Given the description of an element on the screen output the (x, y) to click on. 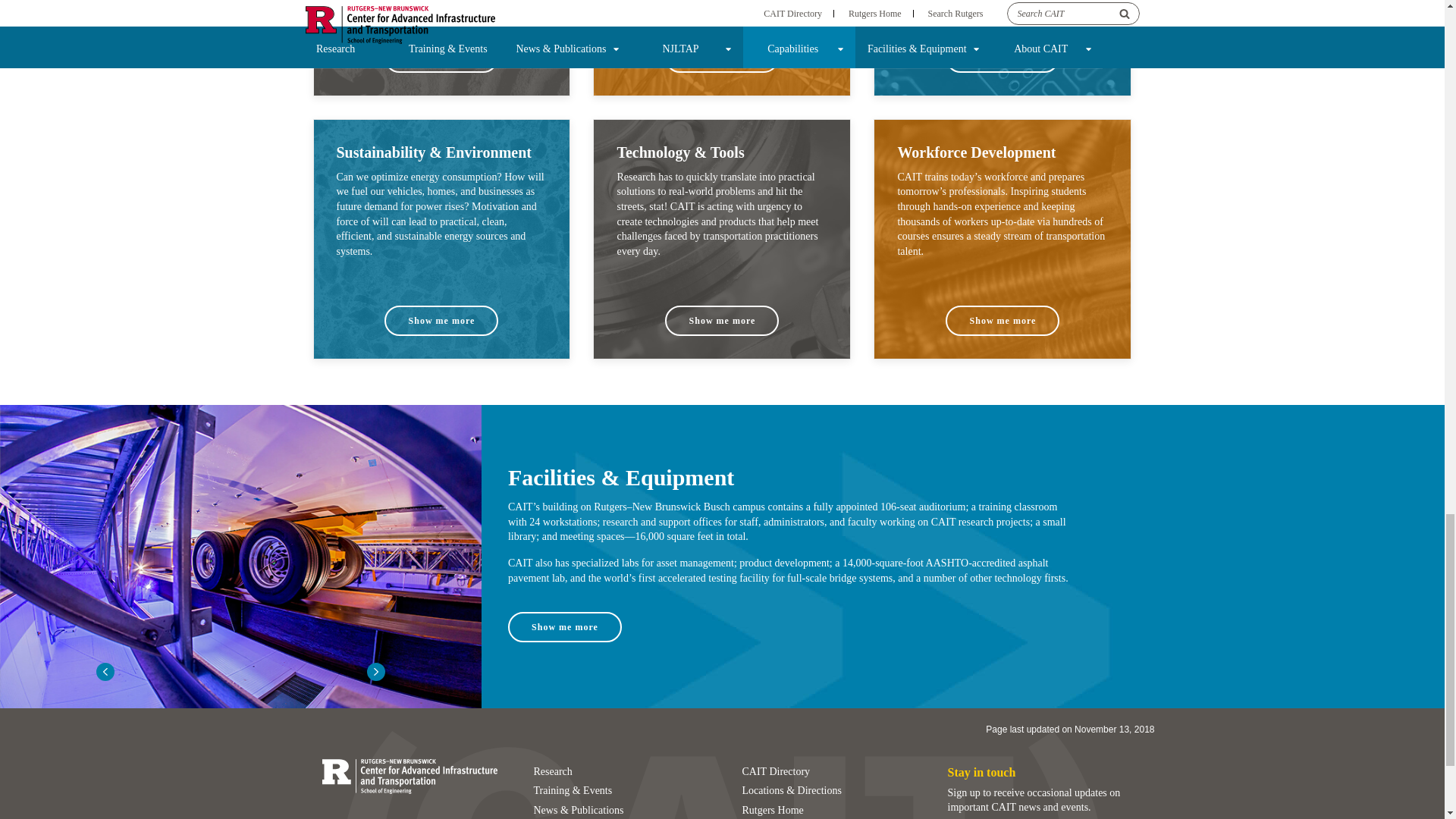
Show me more (564, 626)
Show me more (721, 57)
Show me more (440, 57)
Show me more (1001, 320)
Show me more (440, 320)
Show me more (721, 320)
Show me more (1001, 57)
